Given the description of an element on the screen output the (x, y) to click on. 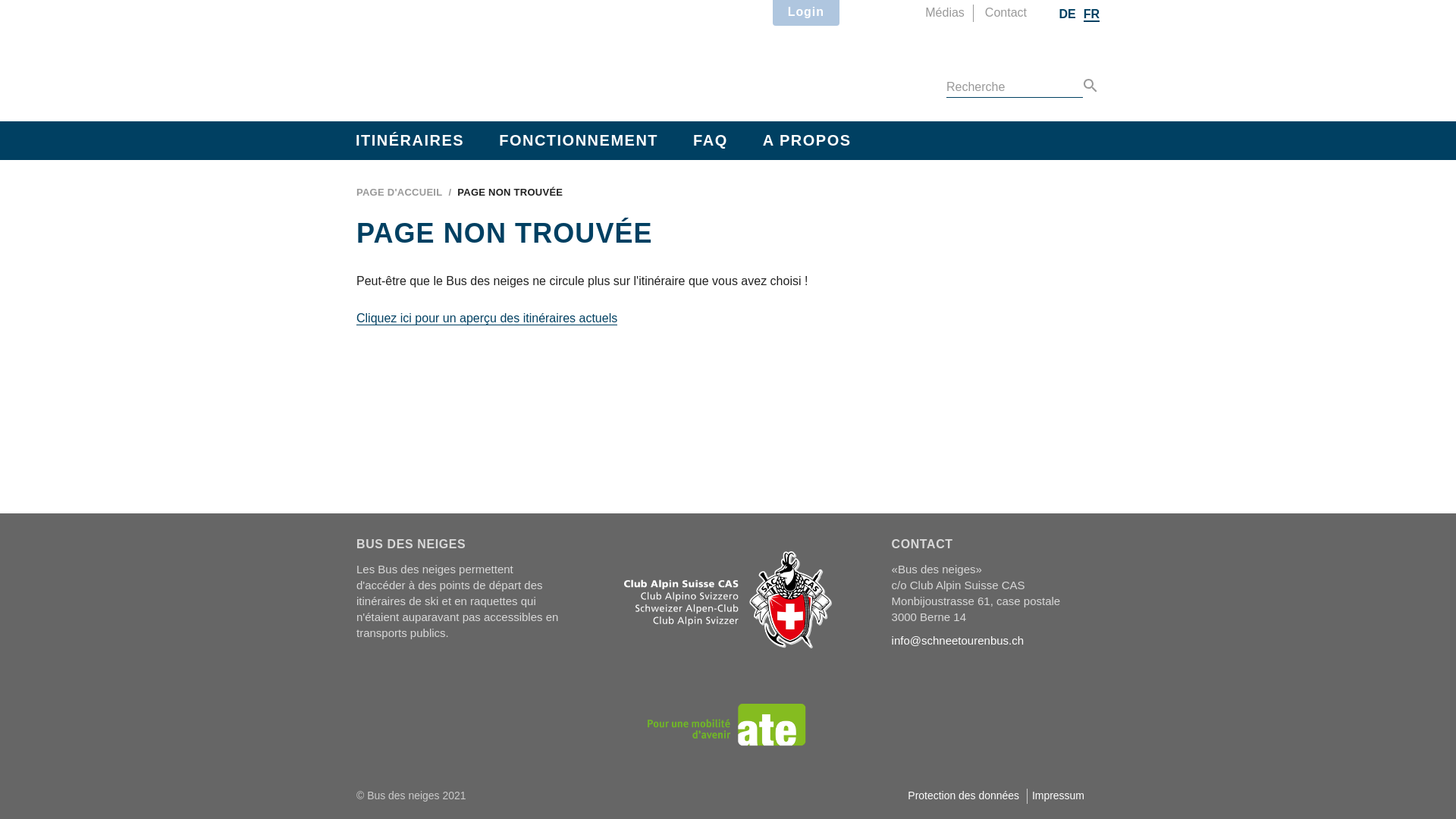
A PROPOS Element type: text (806, 140)
FONCTIONNEMENT Element type: text (578, 140)
Contact Element type: text (1005, 12)
DE Element type: text (1066, 13)
Home Element type: text (491, 57)
FR Element type: text (1091, 14)
FAQ Element type: text (710, 140)
info@schneetourenbus.ch Element type: text (957, 639)
Impressum Element type: text (1058, 795)
PAGE D'ACCUEIL Element type: text (399, 191)
